Given the description of an element on the screen output the (x, y) to click on. 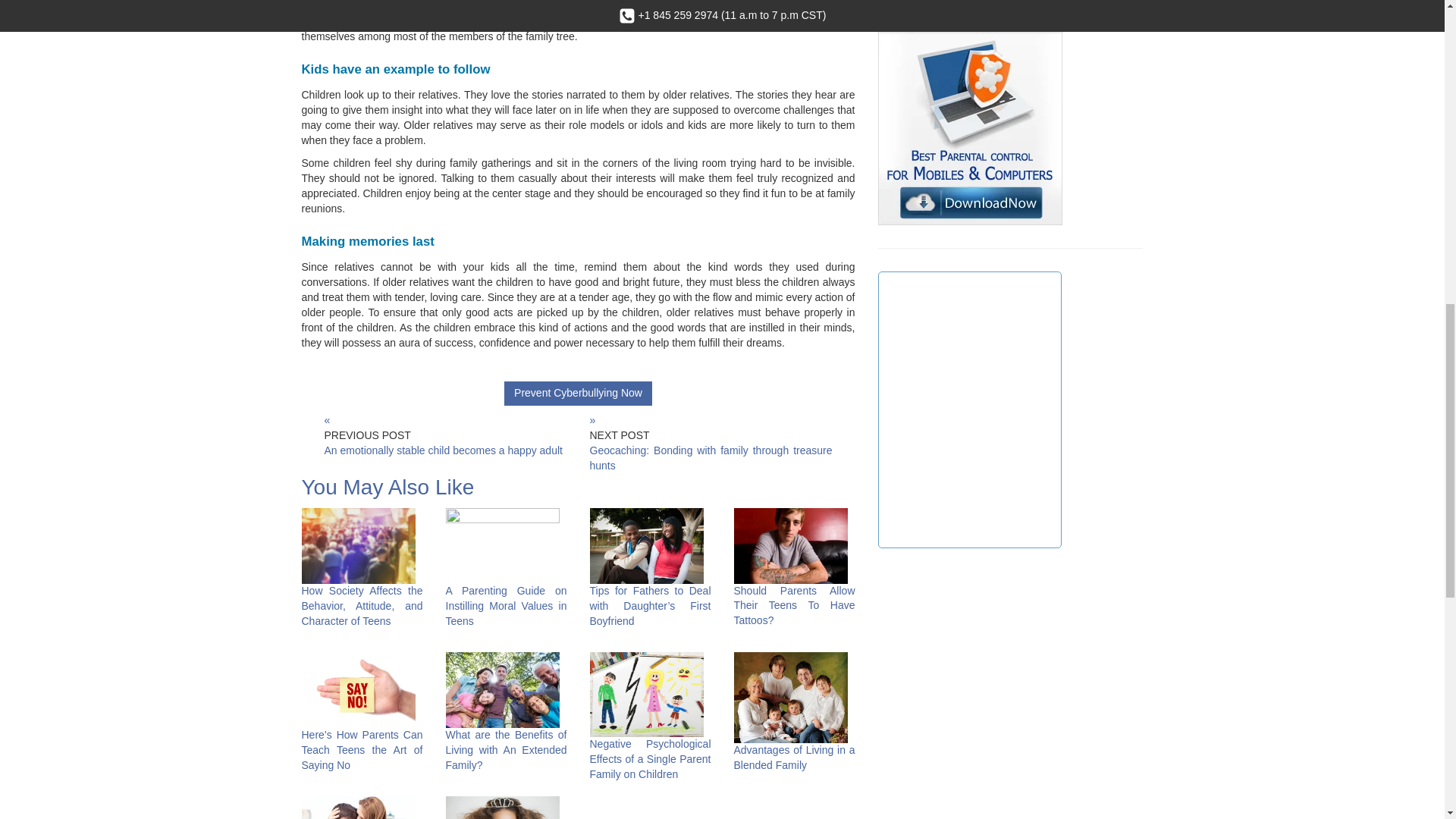
Advantages of Living in a Blended Family (794, 757)
Prevent Cyberbullying Now (577, 393)
Should Parents Allow Their Teens To Have Tattoos? (794, 604)
An emotionally stable child becomes a happy adult (443, 450)
Facebook (969, 409)
A Parenting Guide on Instilling Moral Values in Teens (506, 605)
Geocaching: Bonding with family through treasure hunts (710, 457)
What are the Benefits of Living with An Extended Family? (506, 749)
